Given the description of an element on the screen output the (x, y) to click on. 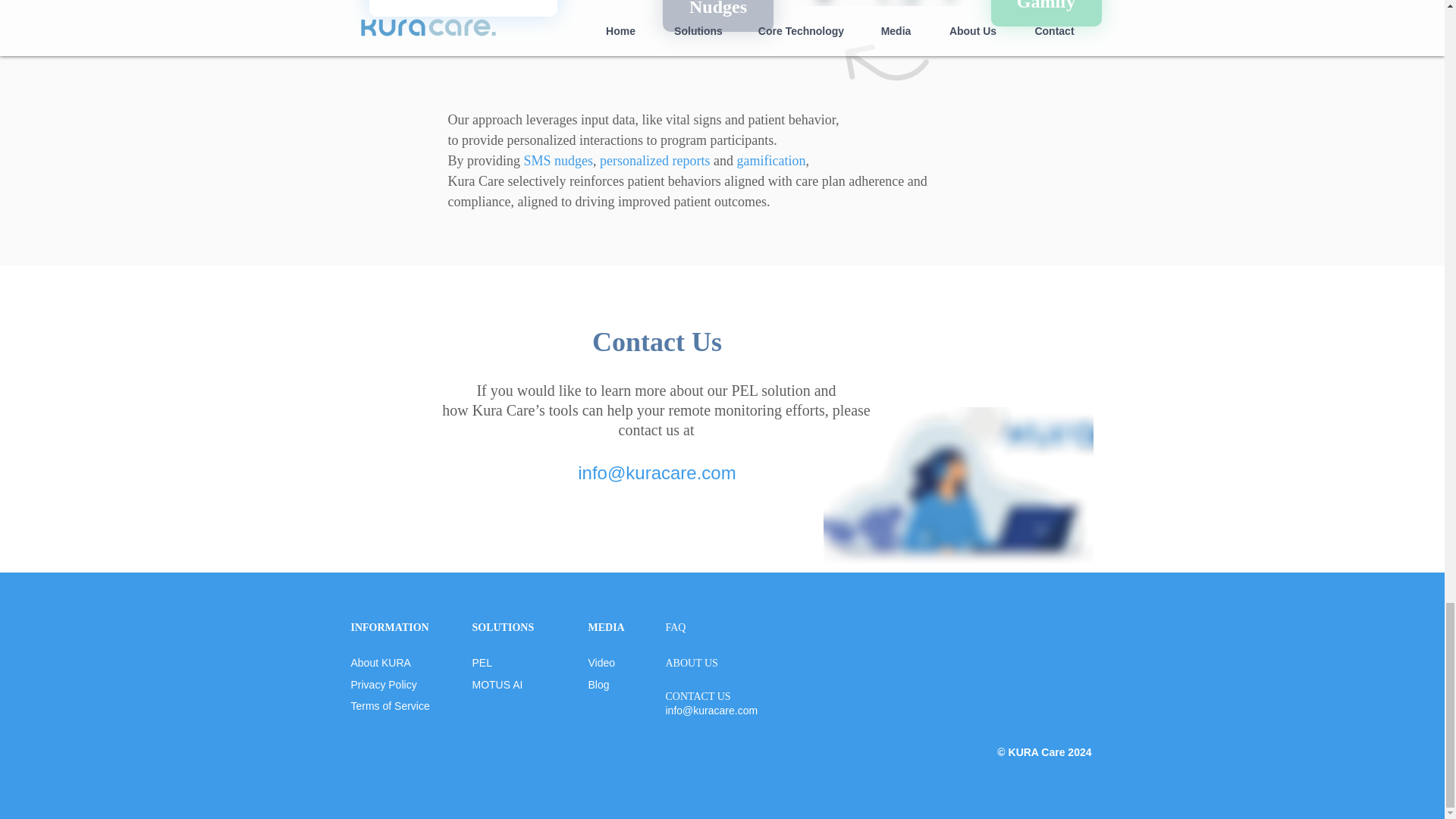
ABOUT US (691, 662)
MOTUS AI (496, 684)
CONTACT US (697, 695)
About KURA (380, 662)
PEL (481, 662)
Terms of Service (389, 705)
FAQ (675, 626)
Blog (599, 684)
Video (601, 662)
Privacy Policy (383, 684)
